Given the description of an element on the screen output the (x, y) to click on. 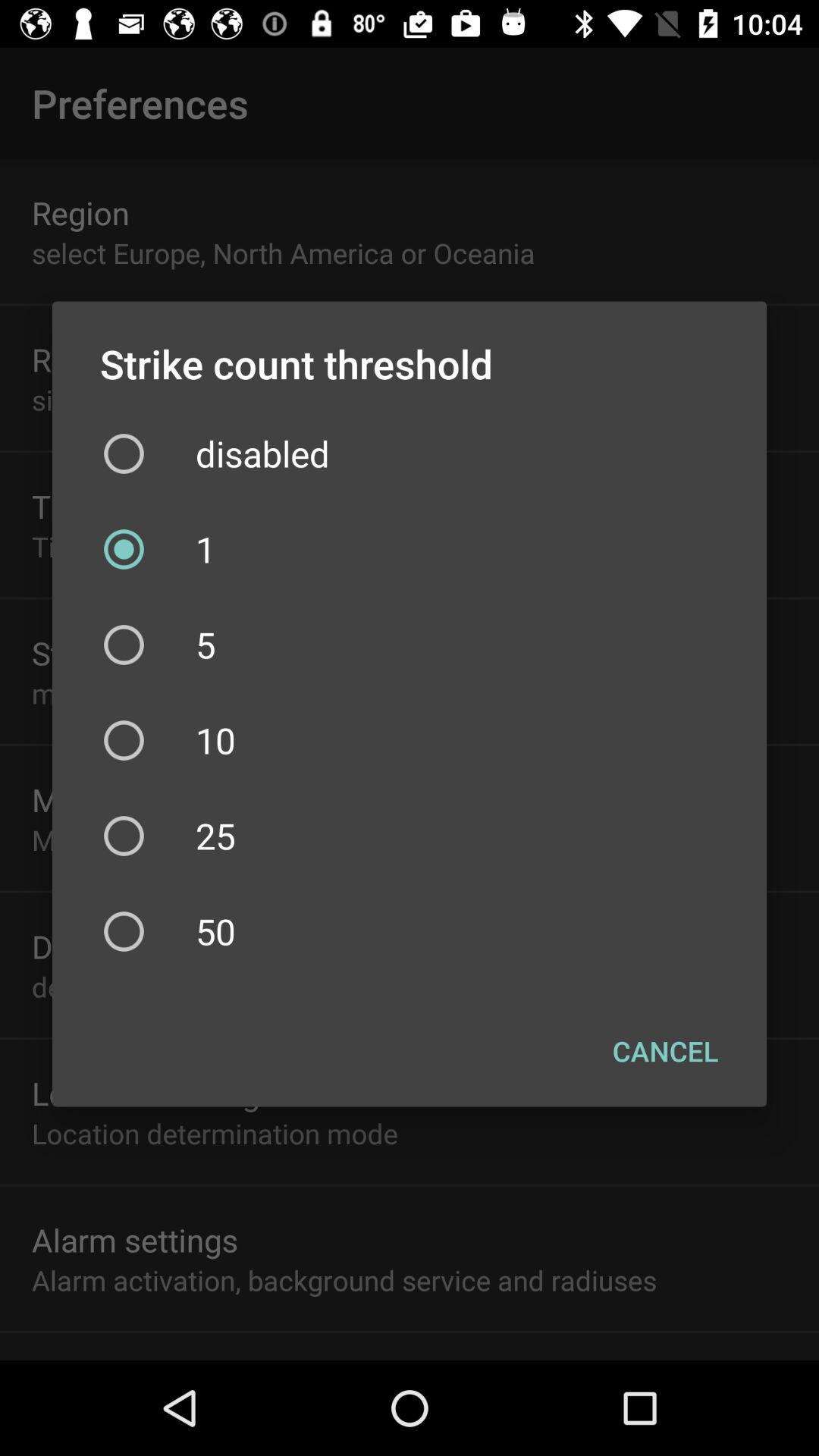
click checkbox below the 50 item (665, 1050)
